Given the description of an element on the screen output the (x, y) to click on. 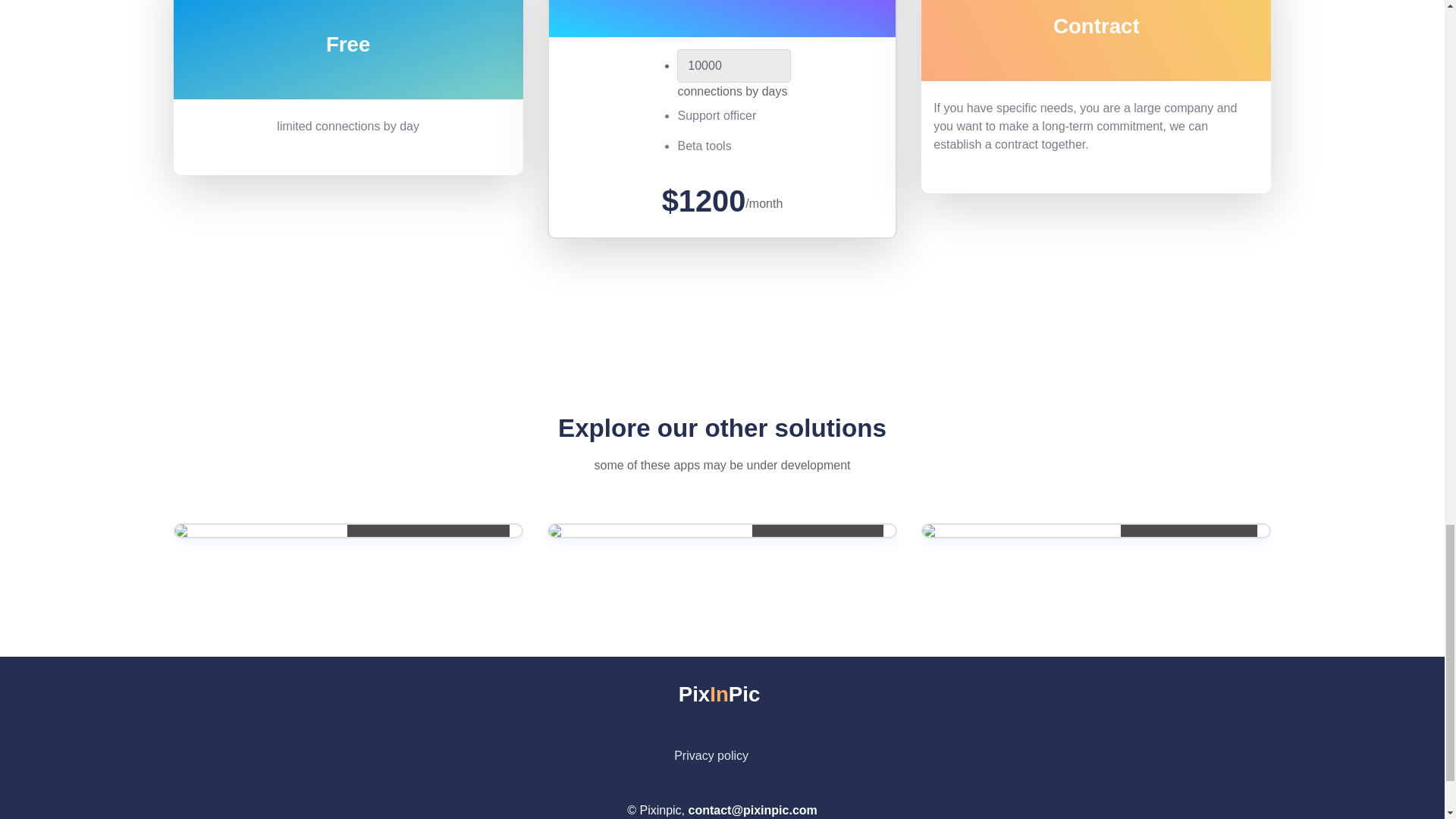
Privacy policy (722, 694)
10000 (711, 755)
